Given the description of an element on the screen output the (x, y) to click on. 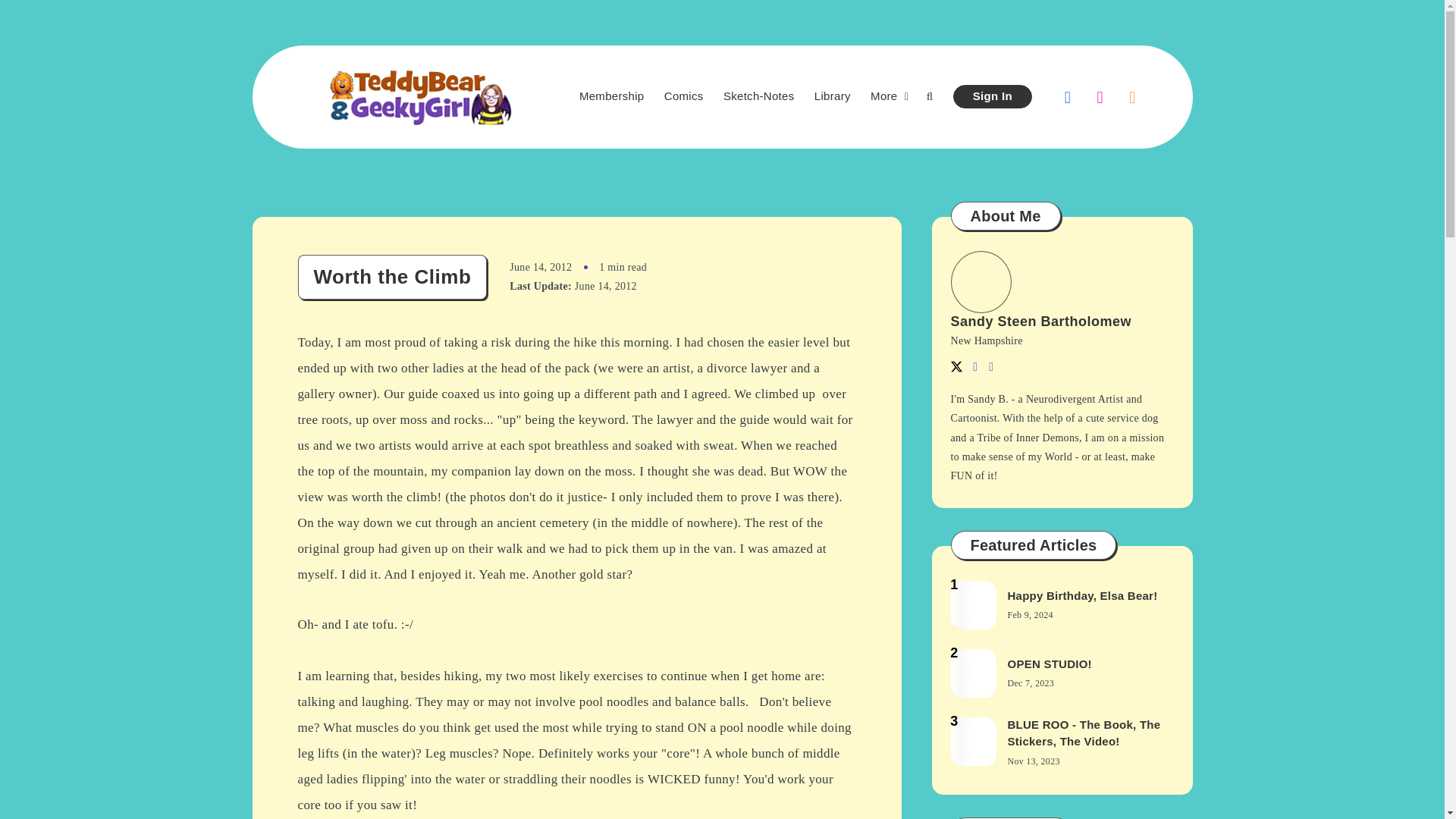
Sign In (992, 96)
Membership (612, 96)
Library (831, 96)
Sketch-Notes (758, 96)
Comics (683, 96)
More (883, 96)
